Given the description of an element on the screen output the (x, y) to click on. 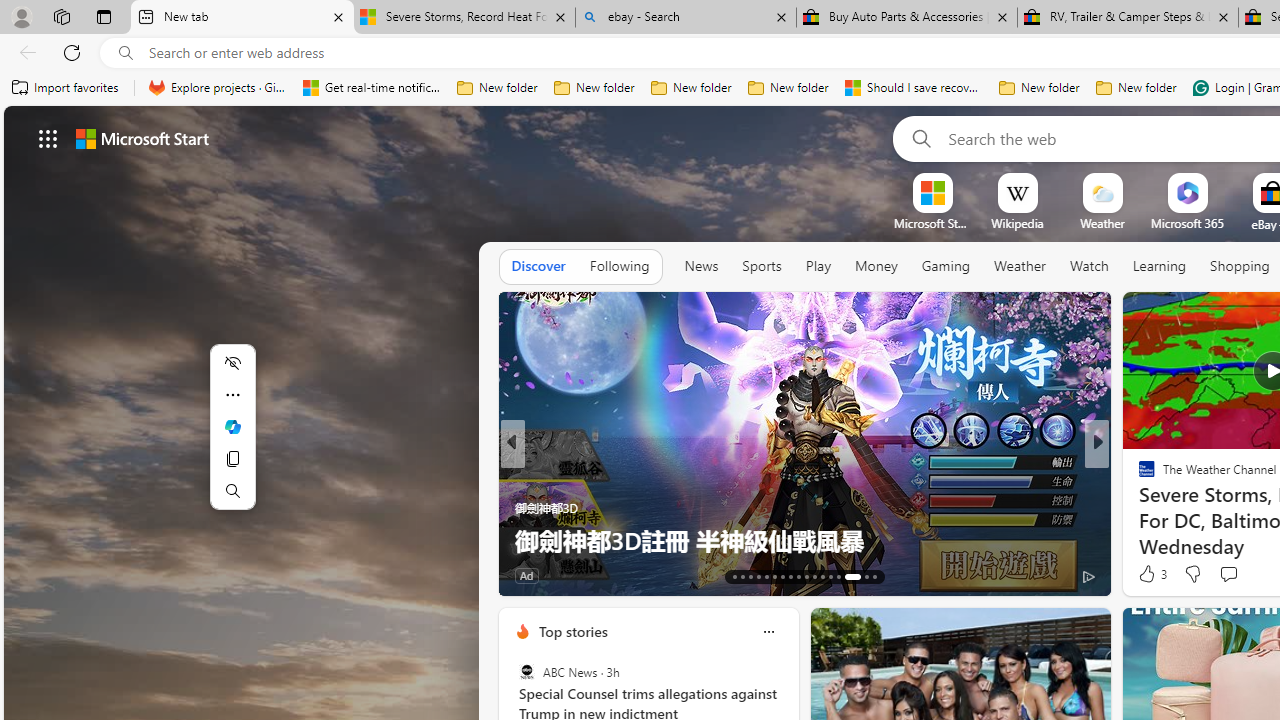
Search (232, 490)
